Given the description of an element on the screen output the (x, y) to click on. 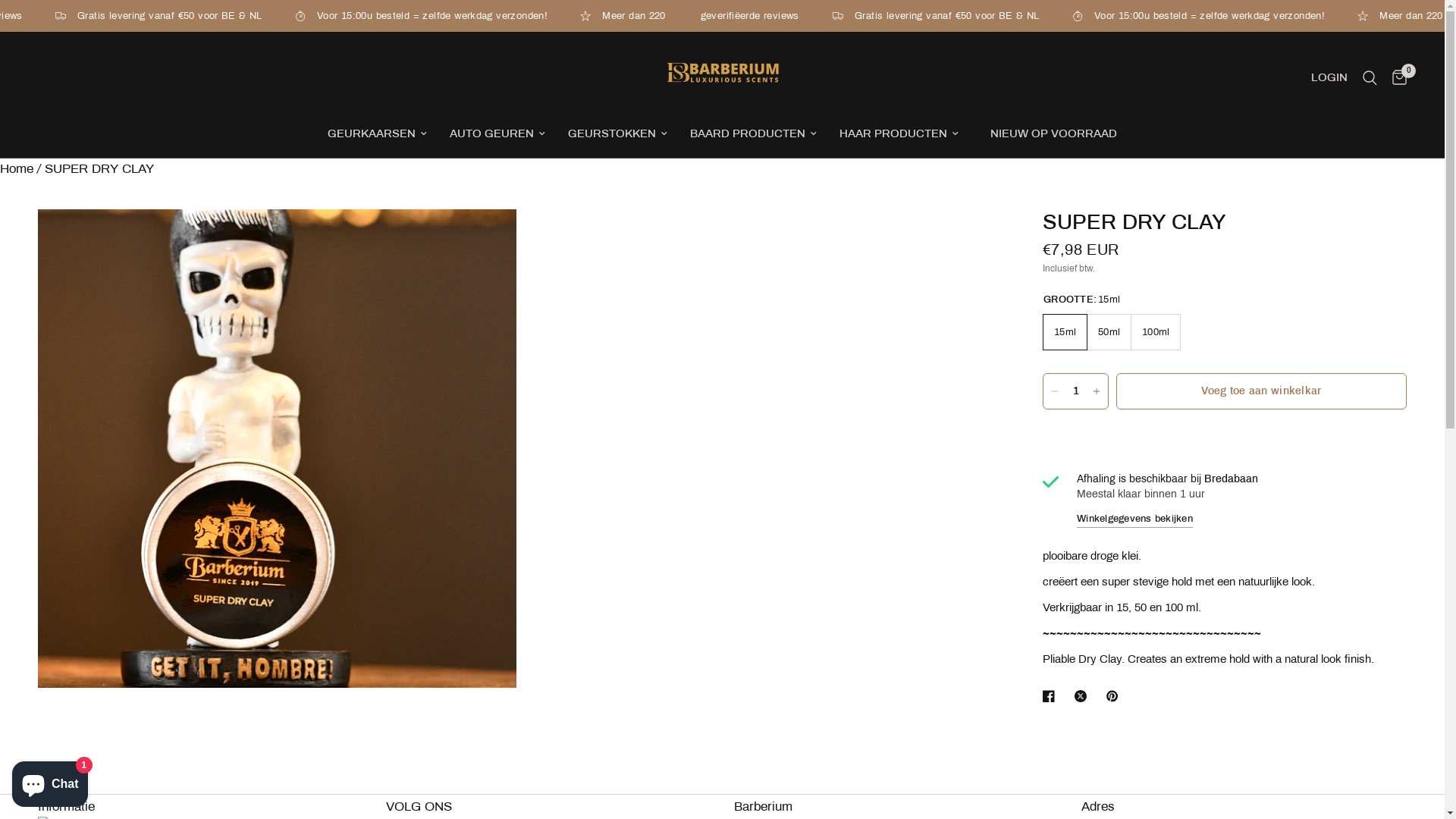
Onlinewinkel-chat van Shopify Element type: hover (49, 780)
BAARD PRODUCTEN Element type: text (753, 133)
Zoek Element type: hover (1369, 77)
LOGIN Element type: text (1329, 77)
AUTO GEUREN Element type: text (497, 133)
GEURKAARSEN Element type: text (376, 133)
GEURSTOKKEN Element type: text (617, 133)
0 Element type: text (1395, 77)
Home Element type: text (16, 168)
Voeg toe aan winkelkar Element type: text (1261, 391)
HAAR PRODUCTEN Element type: text (898, 133)
Winkelgegevens bekijken Element type: text (1134, 518)
